Given the description of an element on the screen output the (x, y) to click on. 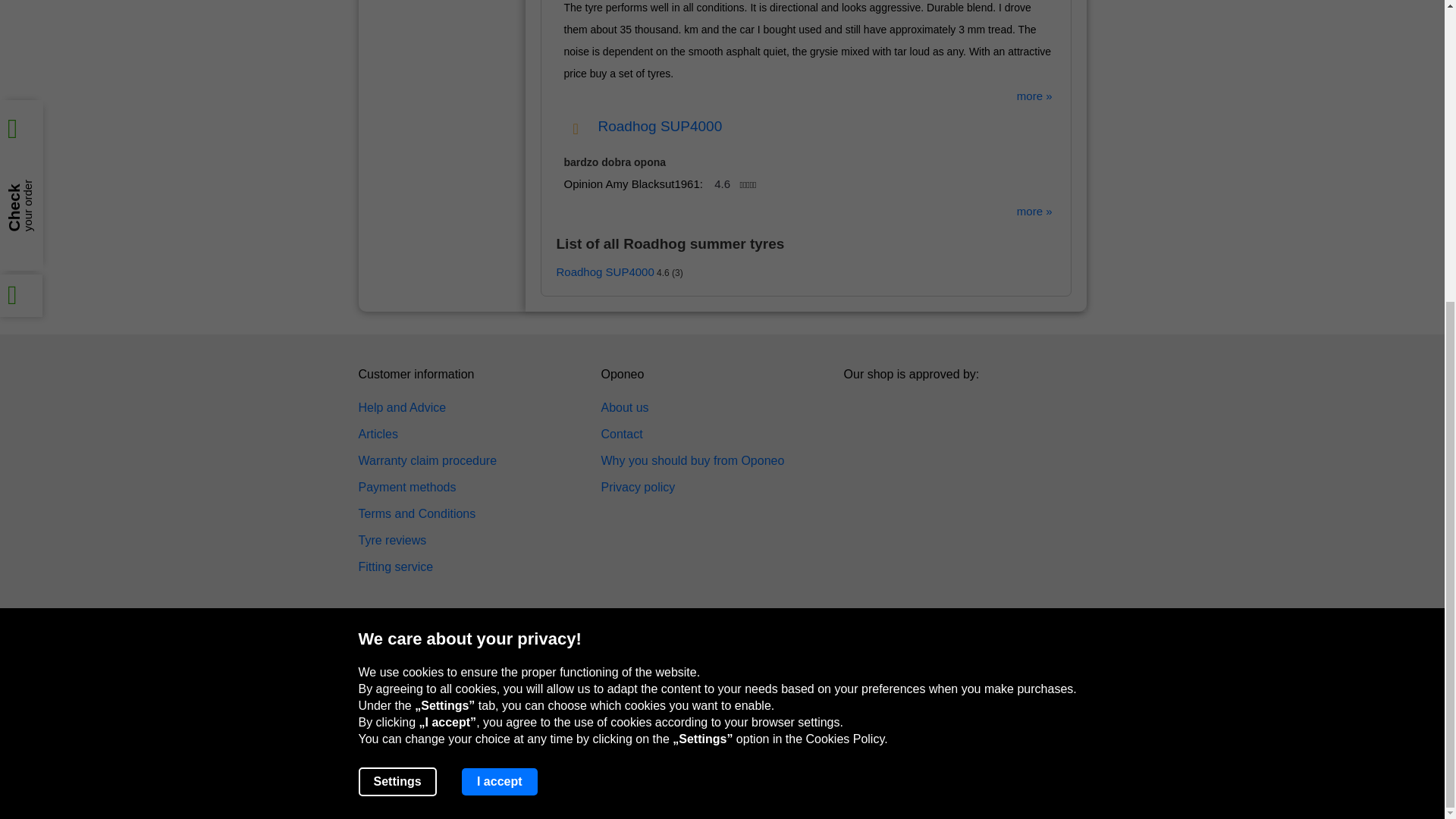
Payment methods (406, 487)
Why you should buy from Oponeo (691, 460)
Help and Advice (401, 407)
Fitting service (395, 566)
Contact (620, 434)
Roadhog SUP4000 (604, 271)
Privacy policy (637, 487)
About us (623, 407)
Warranty claim procedure (427, 460)
Articles (377, 434)
Tyre reviews (392, 540)
Terms and Conditions (417, 514)
Roadhog SUP4000 (659, 125)
